Given the description of an element on the screen output the (x, y) to click on. 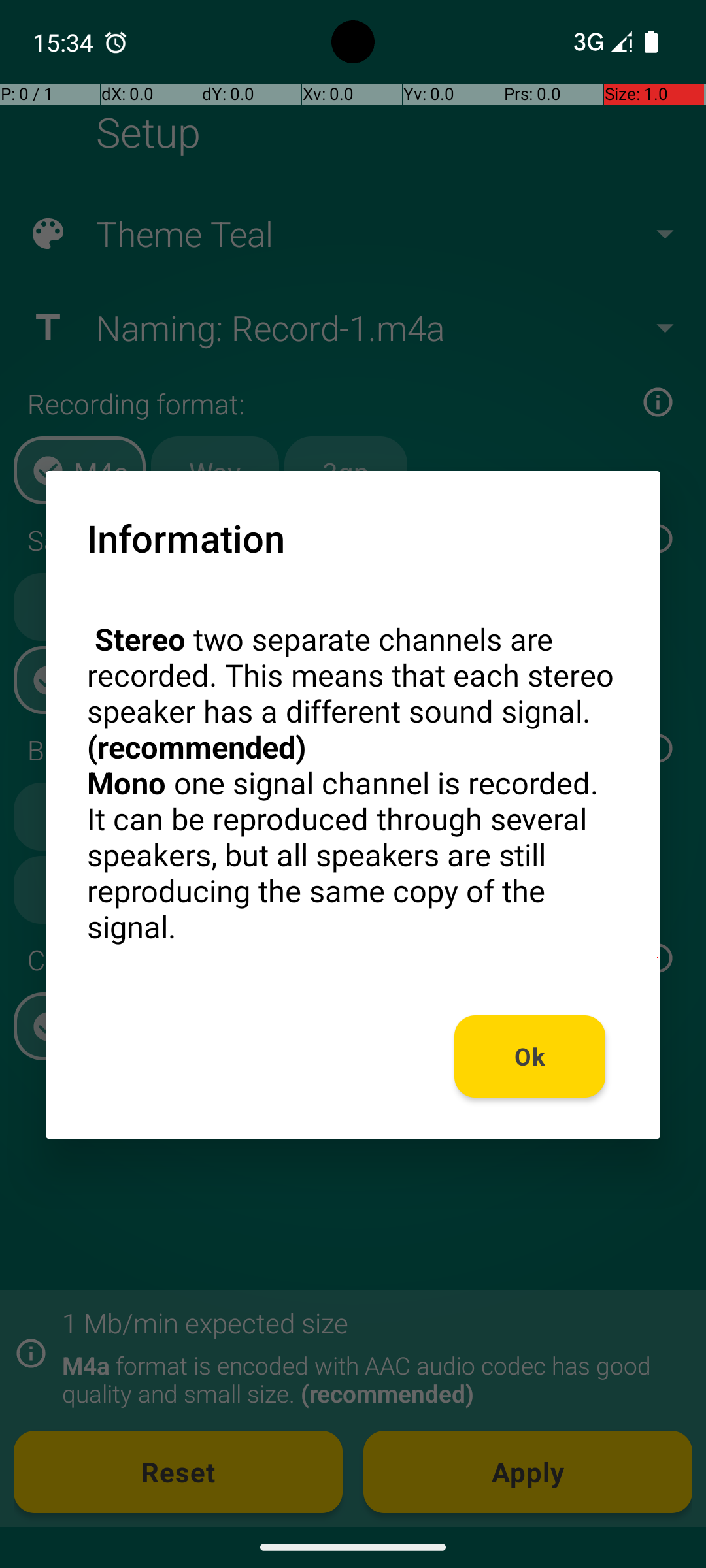
 Stereo two separate channels are recorded. This means that each stereo speaker has a different sound signal. (recommended) 
Mono one signal channel is recorded. It can be reproduced through several speakers, but all speakers are still reproducing the same copy of the signal.  Element type: android.widget.TextView (352, 782)
Clock notification: Missed alarm Element type: android.widget.ImageView (115, 41)
